Given the description of an element on the screen output the (x, y) to click on. 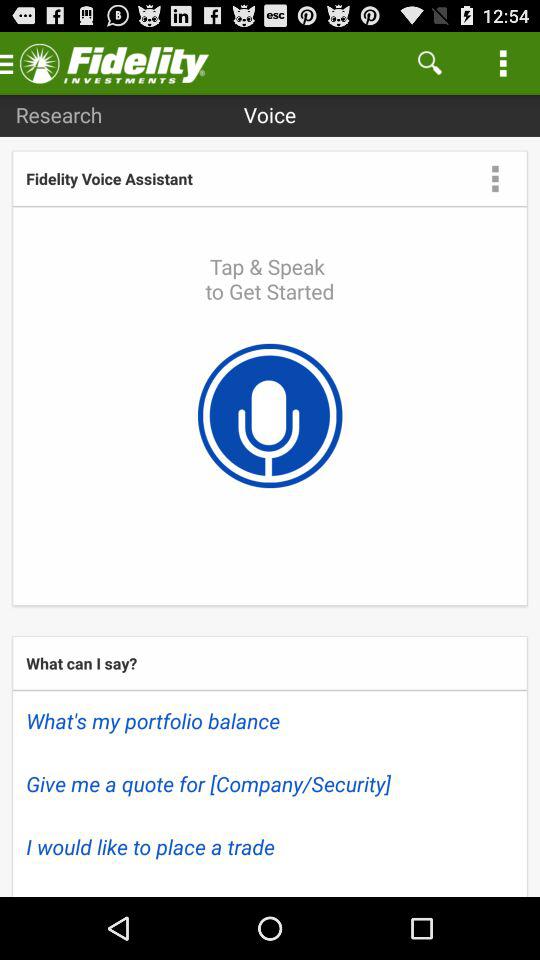
open item above the fidelity voice assistant app (58, 114)
